Given the description of an element on the screen output the (x, y) to click on. 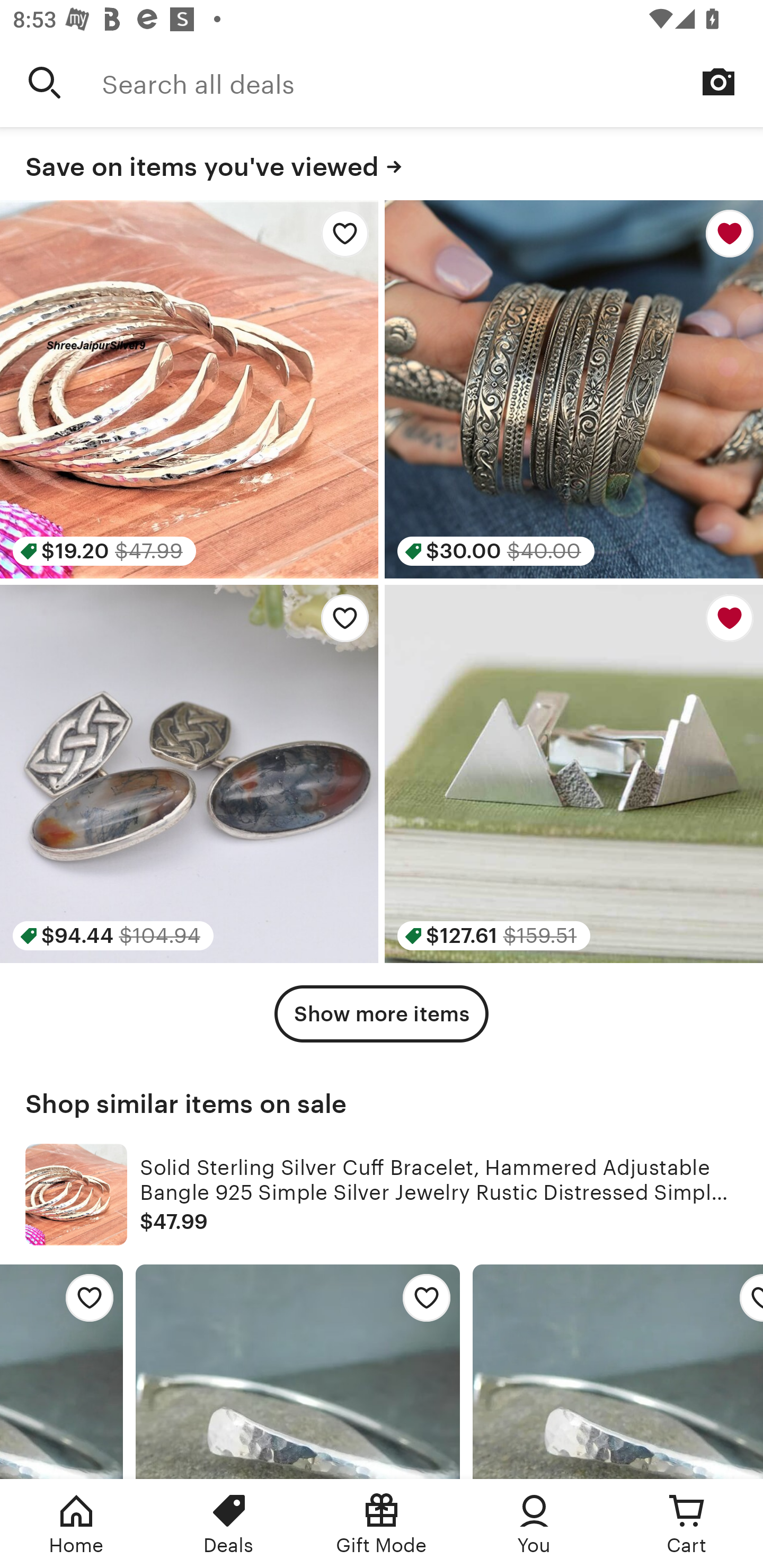
Search for anything on Etsy (44, 82)
Search by image (718, 81)
Search all deals (432, 82)
Save on items you've viewed (381, 164)
Show more items (381, 1013)
Home (76, 1523)
Gift Mode (381, 1523)
You (533, 1523)
Cart (686, 1523)
